Given the description of an element on the screen output the (x, y) to click on. 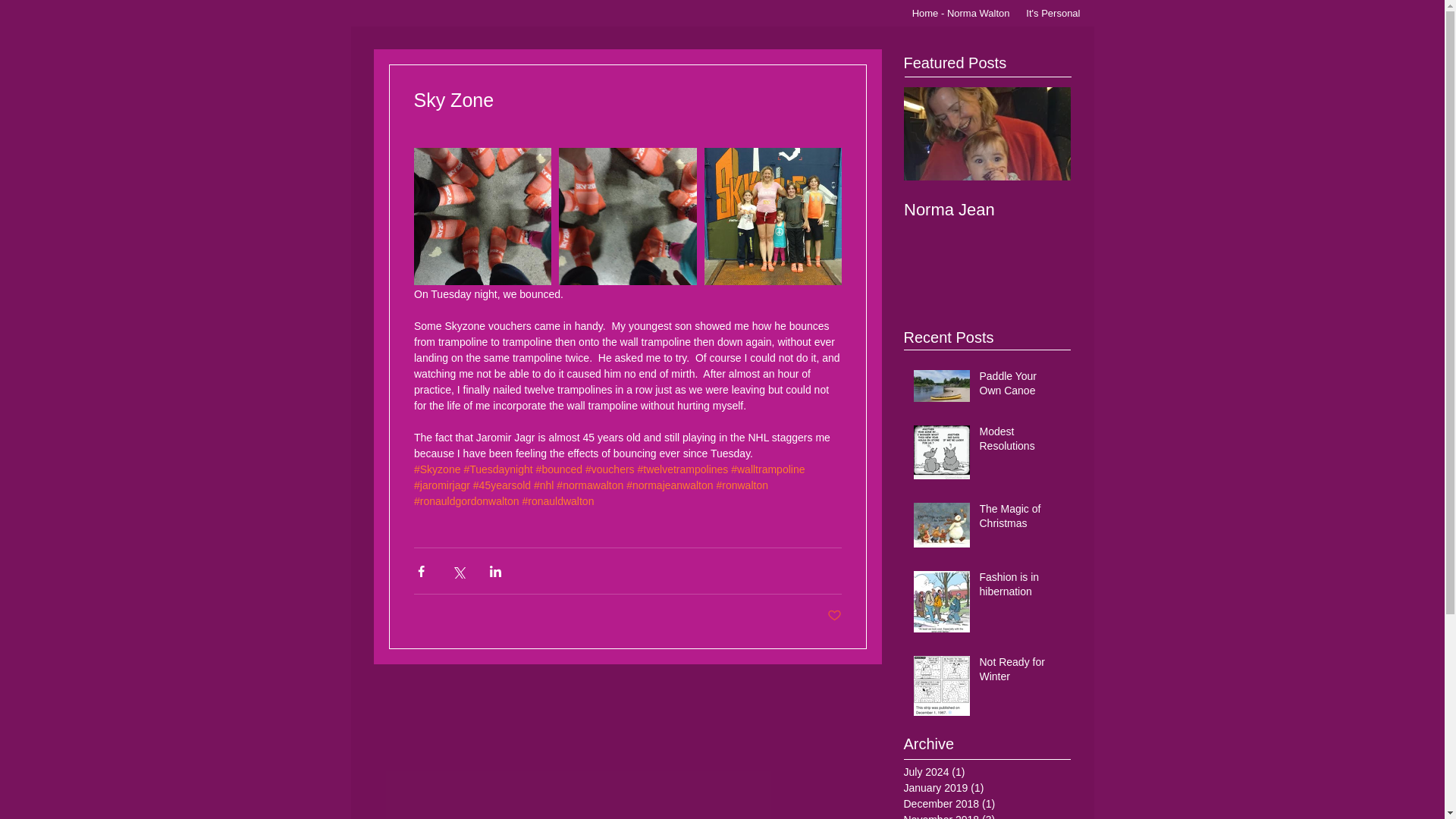
Paddle Your Own Canoe (1020, 386)
Not Ready for Winter (1020, 673)
Norma Jean (987, 209)
Post not marked as liked (834, 616)
Home - Norma Walton (957, 13)
Fashion is in hibernation (1020, 588)
The Magic of Christmas (1020, 519)
It's Personal (1052, 13)
Modest Resolutions (1020, 442)
